Given the description of an element on the screen output the (x, y) to click on. 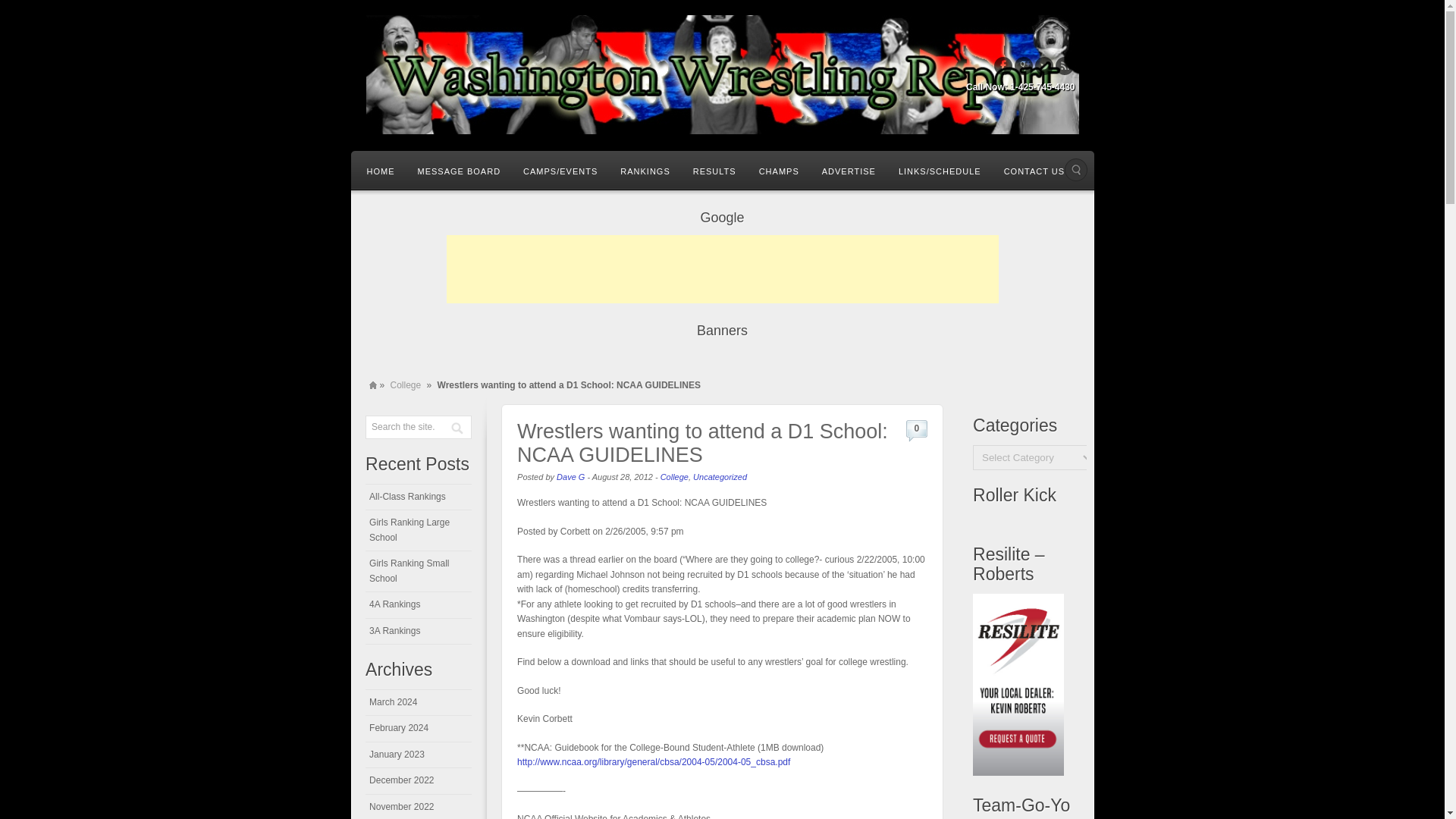
RANKINGS (644, 170)
MESSAGE BOARD (459, 170)
Wrestlers wanting to attend a D1 School: NCAA GUIDELINES (702, 443)
Washington Wrestling Report (721, 74)
Twitter (1042, 65)
Search the site... (1075, 169)
HOME (380, 170)
Rss (1064, 65)
Search the site... (402, 427)
Facebook (1001, 65)
